Given the description of an element on the screen output the (x, y) to click on. 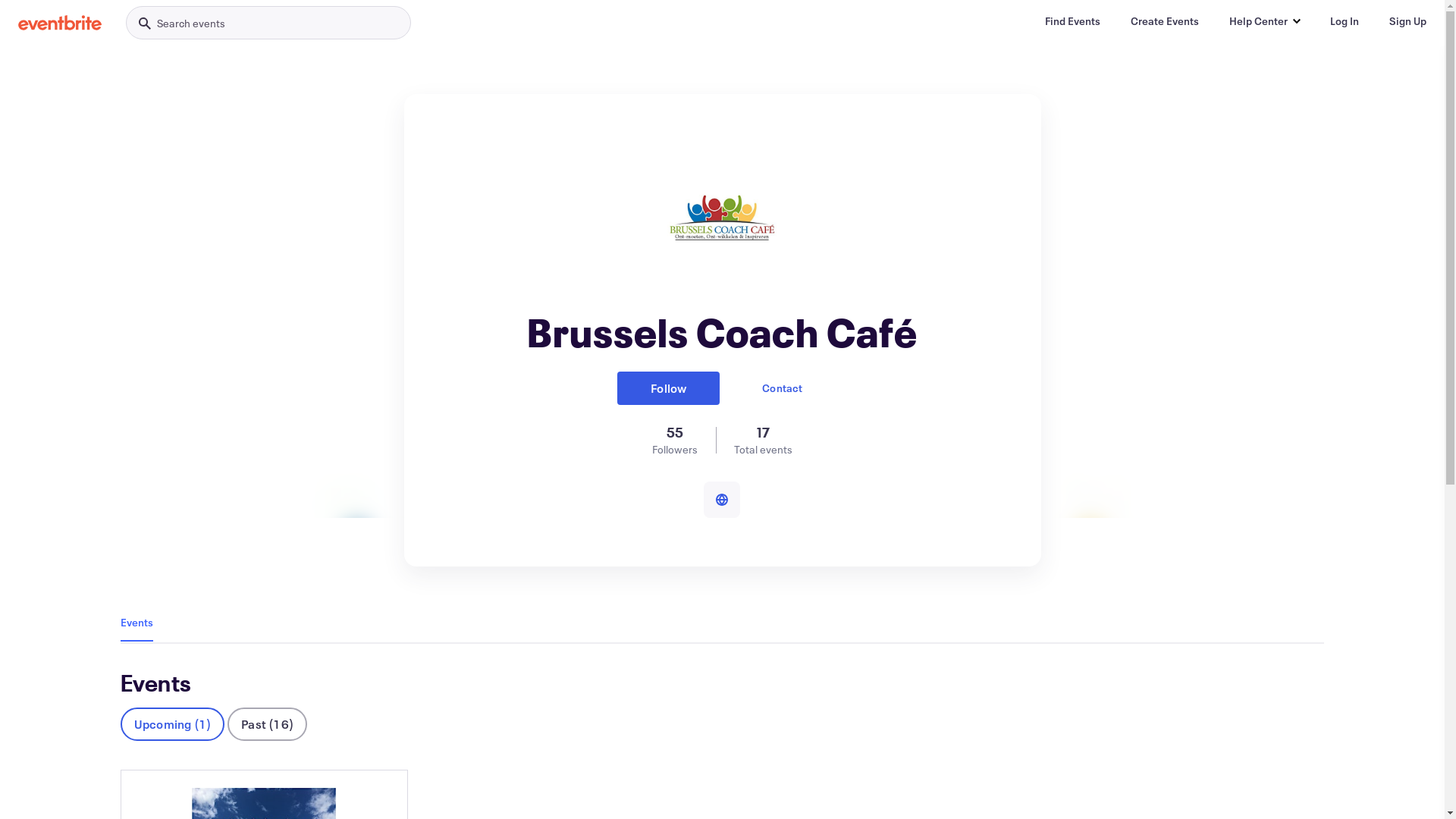
Search events Element type: text (268, 22)
Follow Element type: text (668, 387)
Eventbrite Element type: hover (59, 22)
Sign Up Element type: text (1407, 21)
Create Events Element type: text (1164, 21)
Upcoming (1) Element type: text (172, 723)
Events Element type: text (136, 622)
Find Events Element type: text (1072, 21)
Contact Element type: text (781, 387)
Log In Element type: text (1344, 21)
Past (16) Element type: text (267, 723)
